Given the description of an element on the screen output the (x, y) to click on. 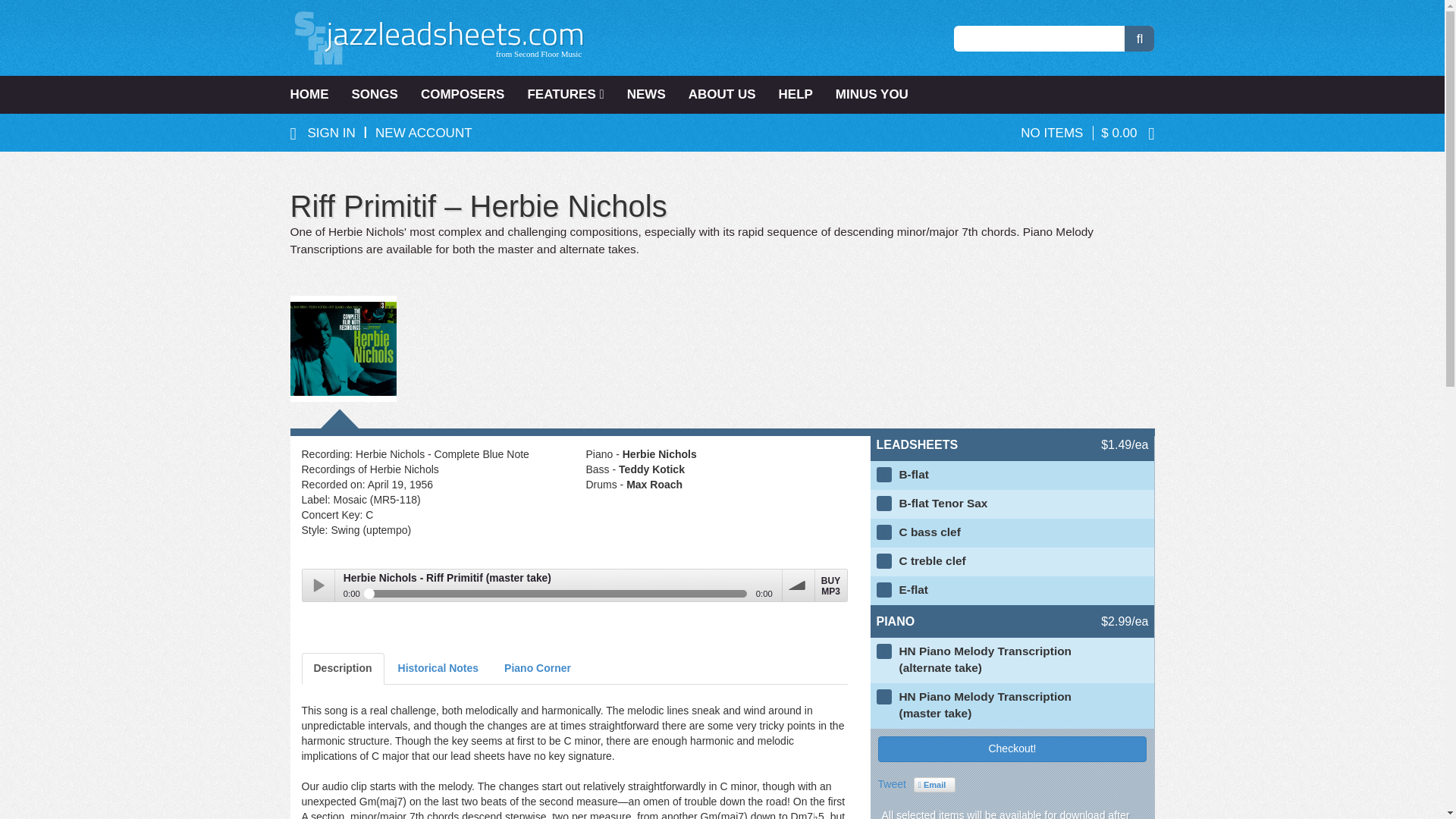
COMPOSERS (462, 94)
FEATURES (564, 94)
Search (1139, 38)
SONGS (374, 94)
HOME (314, 94)
